Given the description of an element on the screen output the (x, y) to click on. 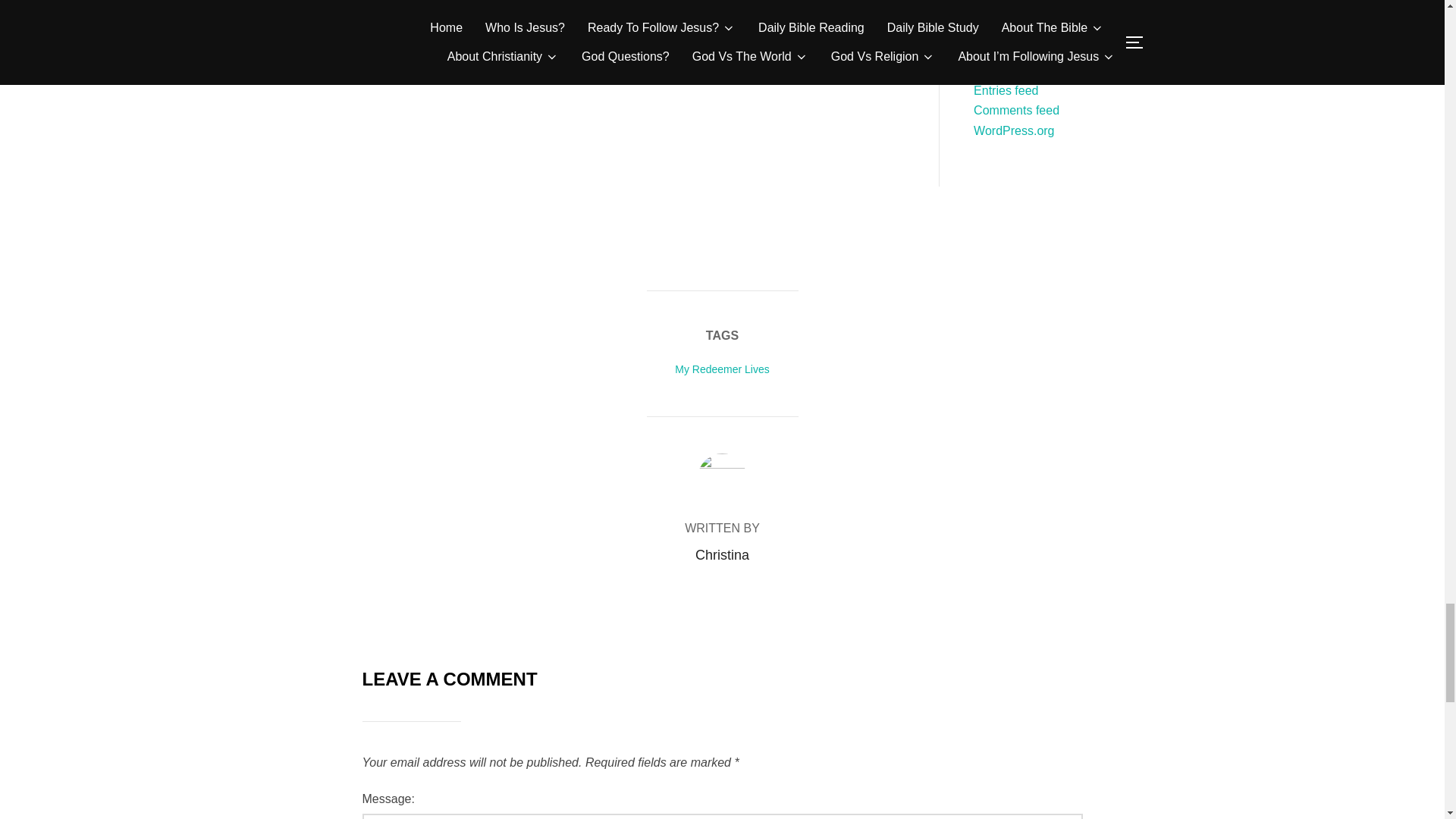
Posts by Christina (722, 554)
